Given the description of an element on the screen output the (x, y) to click on. 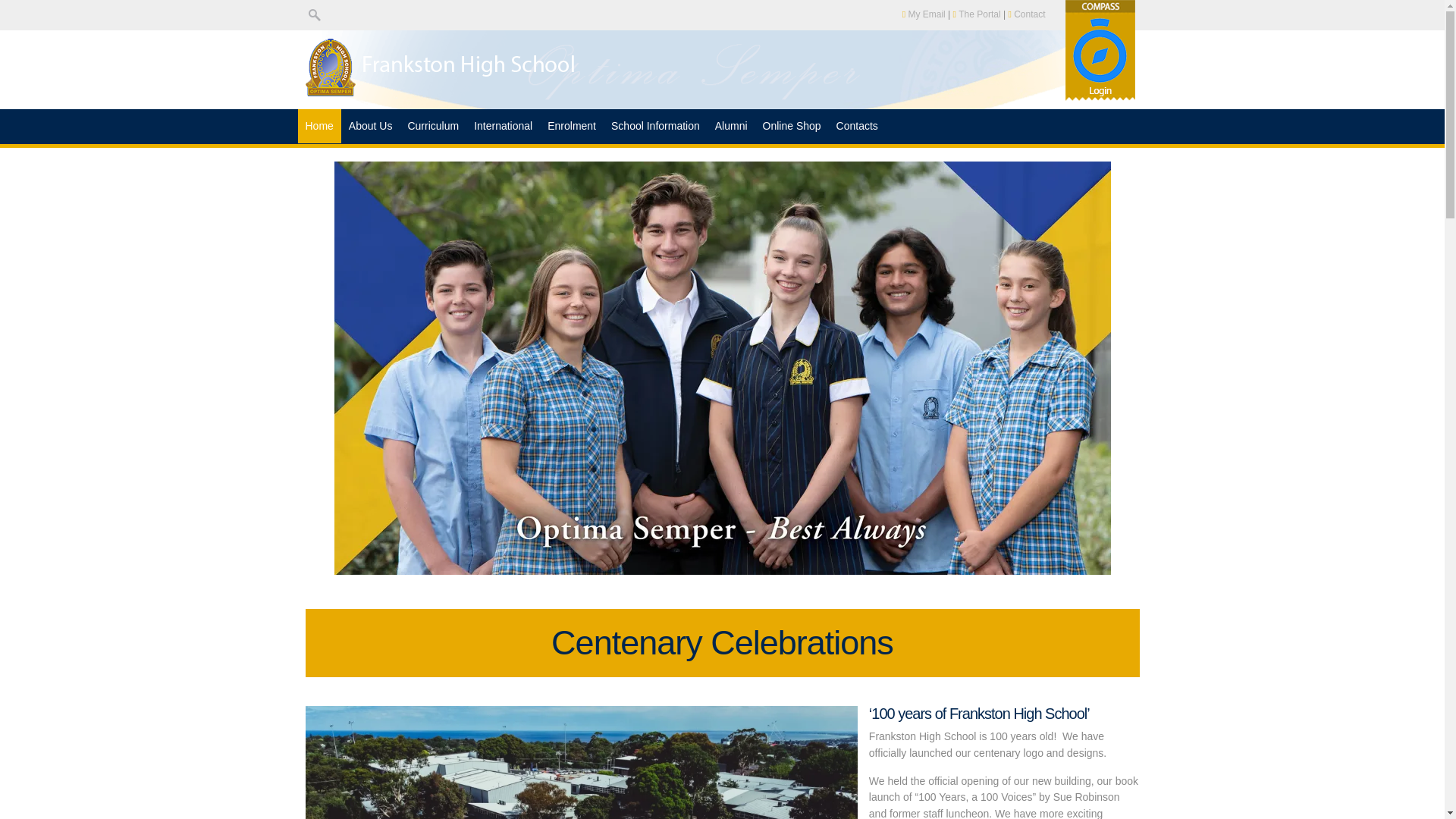
About Us (370, 126)
Curriculum (431, 126)
Contact (1026, 14)
Search (313, 14)
My Email (923, 14)
Home (318, 126)
The Portal (977, 14)
Frankston High School (443, 92)
